Given the description of an element on the screen output the (x, y) to click on. 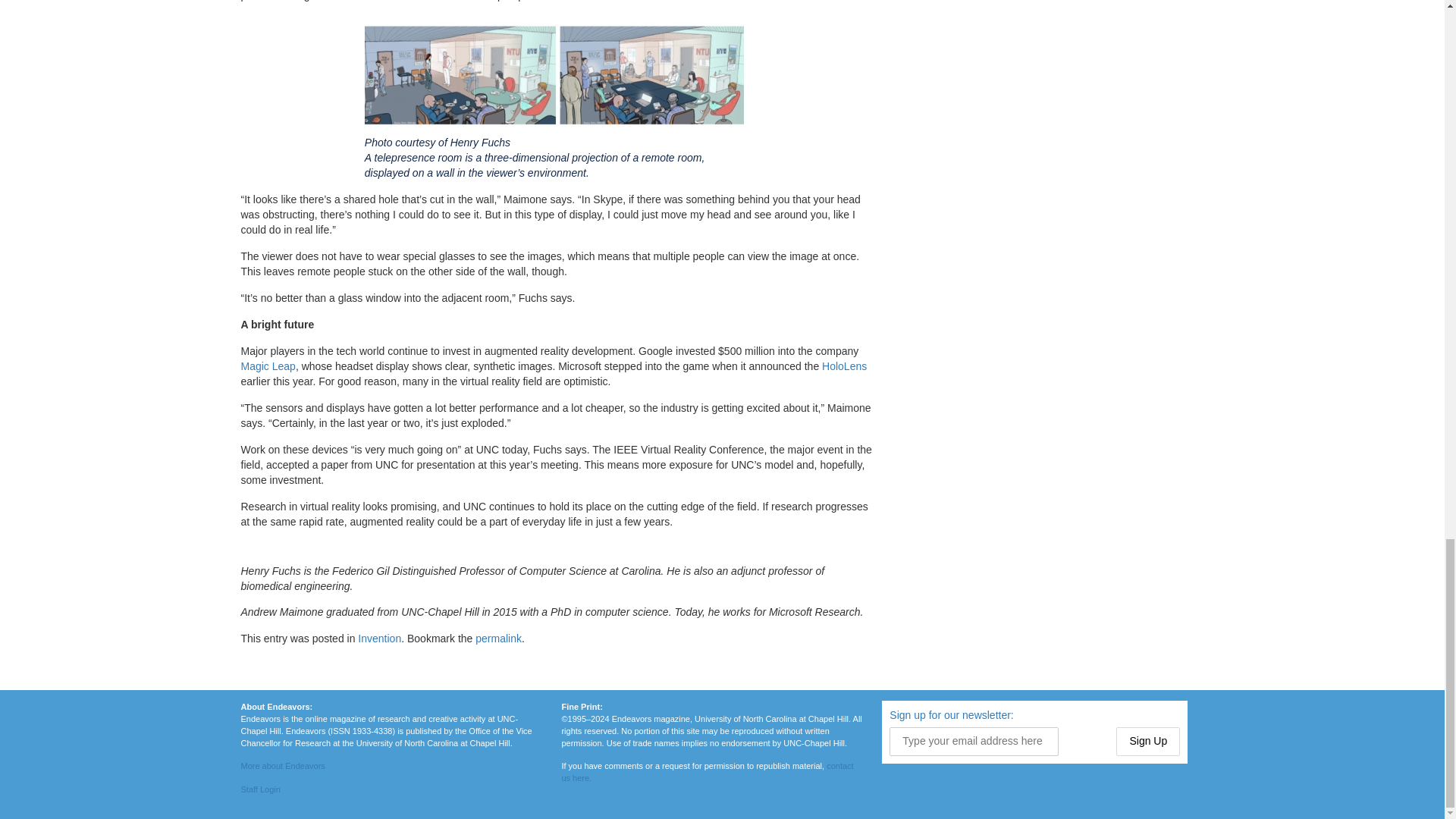
permalink (498, 638)
Sign Up (1147, 741)
Magic Leap (268, 366)
More about Endeavors (282, 765)
Permalink to The New Social Network (498, 638)
Invention (379, 638)
HoloLens (844, 366)
